Given the description of an element on the screen output the (x, y) to click on. 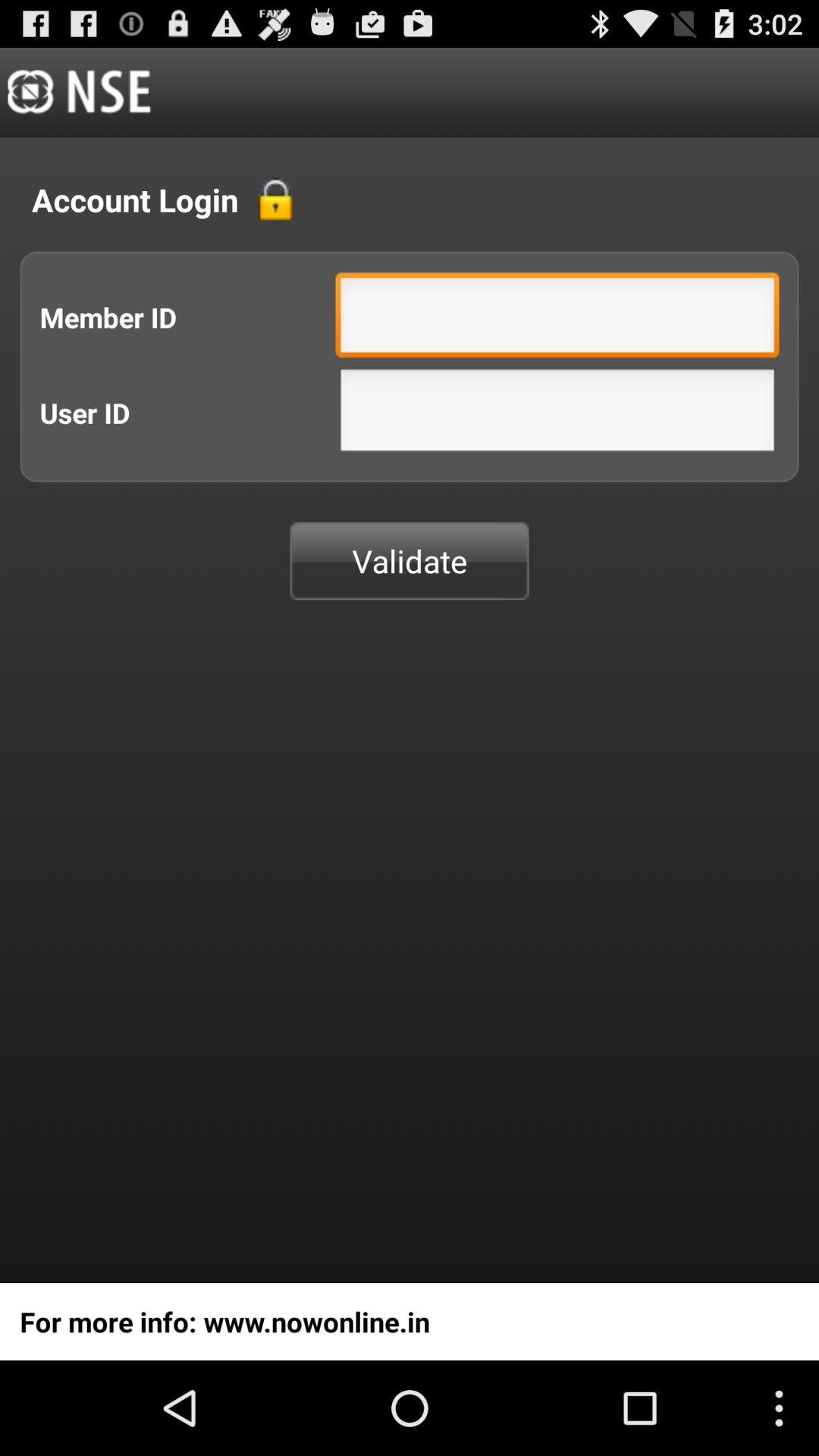
turn off validate button (409, 561)
